Given the description of an element on the screen output the (x, y) to click on. 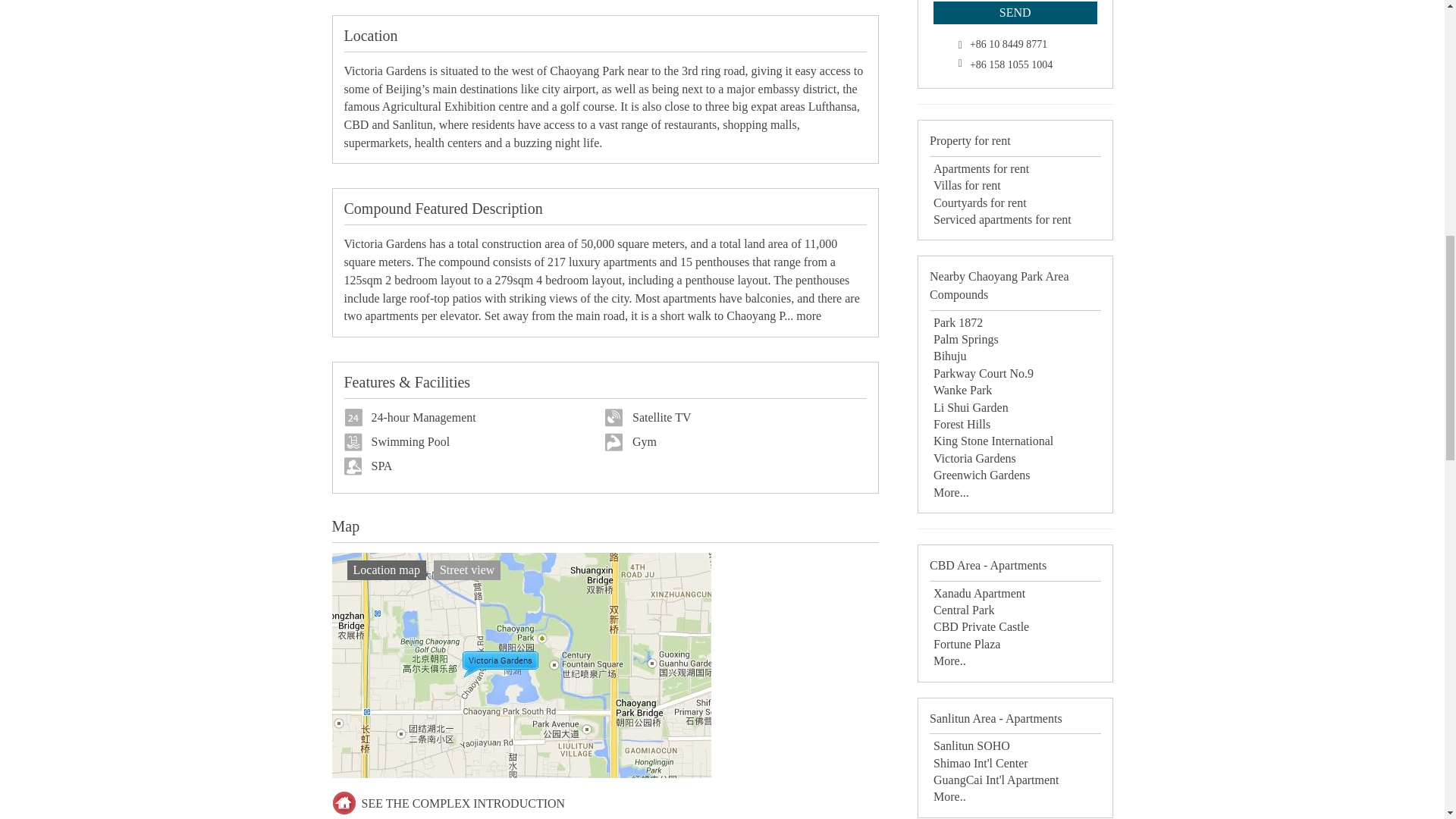
SEND (1015, 12)
